Given the description of an element on the screen output the (x, y) to click on. 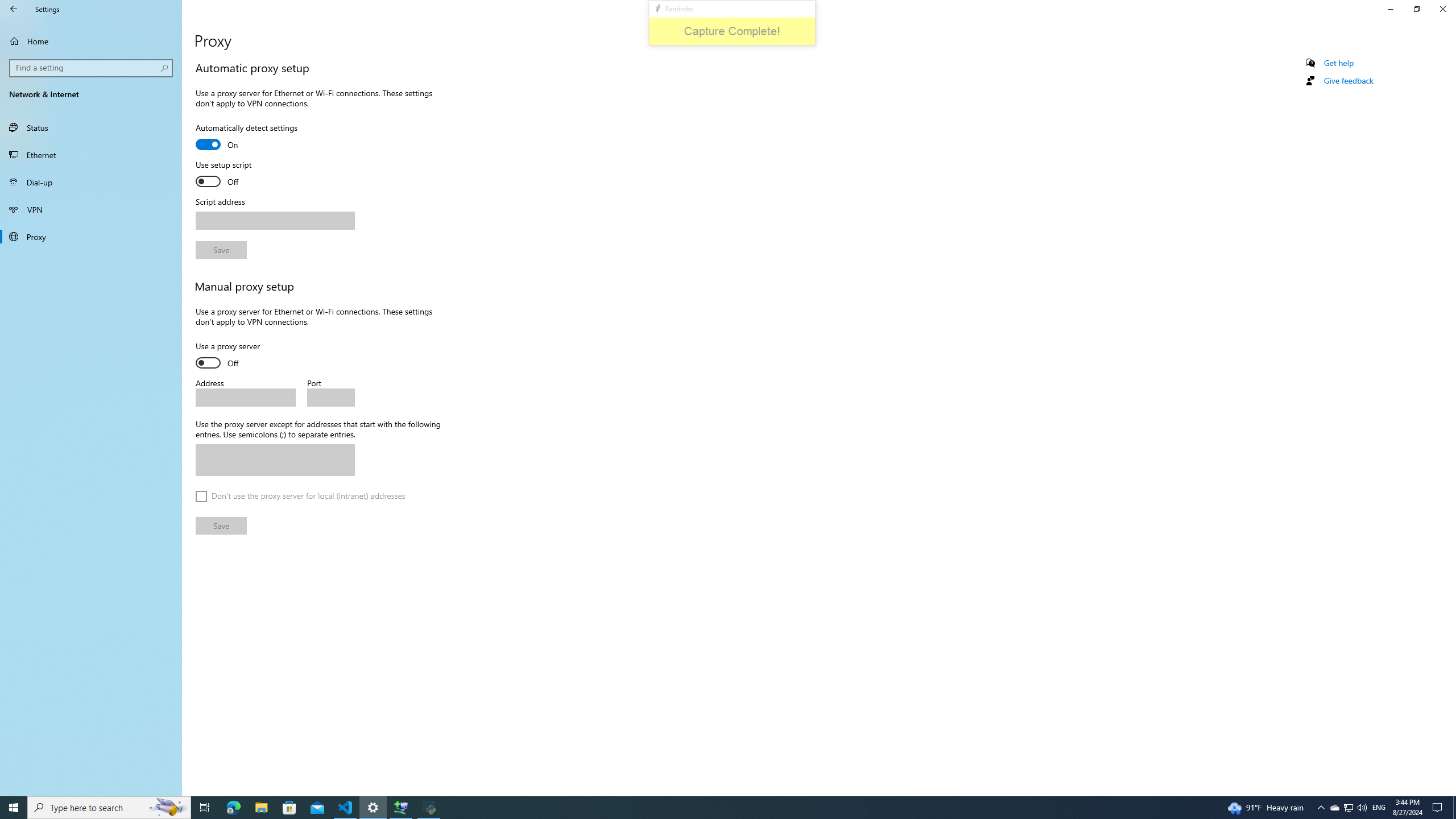
Use a proxy server (237, 355)
Proxy (91, 236)
Running applications (706, 807)
Status (91, 126)
Minimize Settings (1390, 9)
Automatically detect settings (246, 137)
Use setup script (237, 174)
Extensible Wizards Host Process - 1 running window (400, 807)
